Given the description of an element on the screen output the (x, y) to click on. 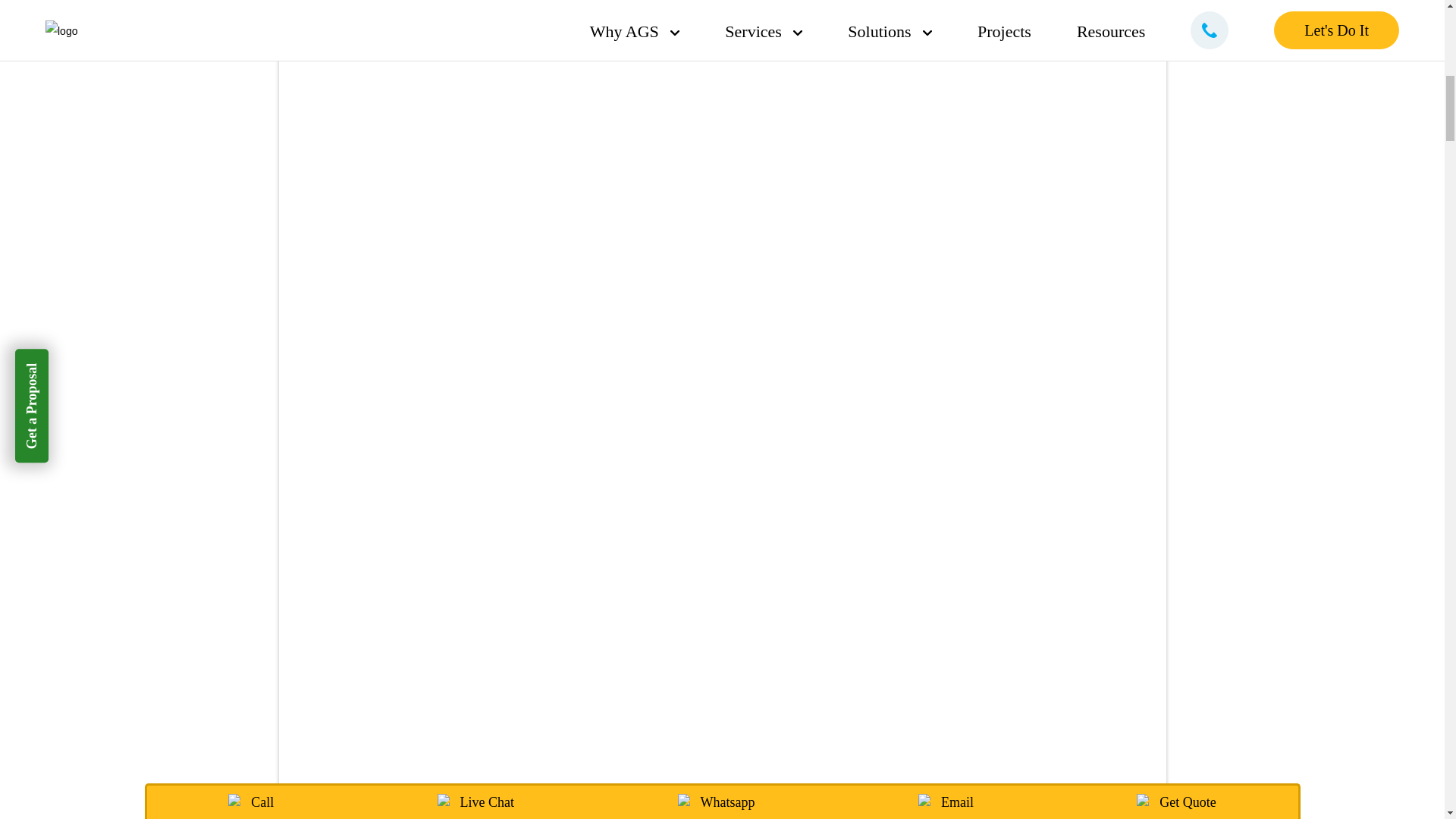
Subscribe (1007, 50)
